Given the description of an element on the screen output the (x, y) to click on. 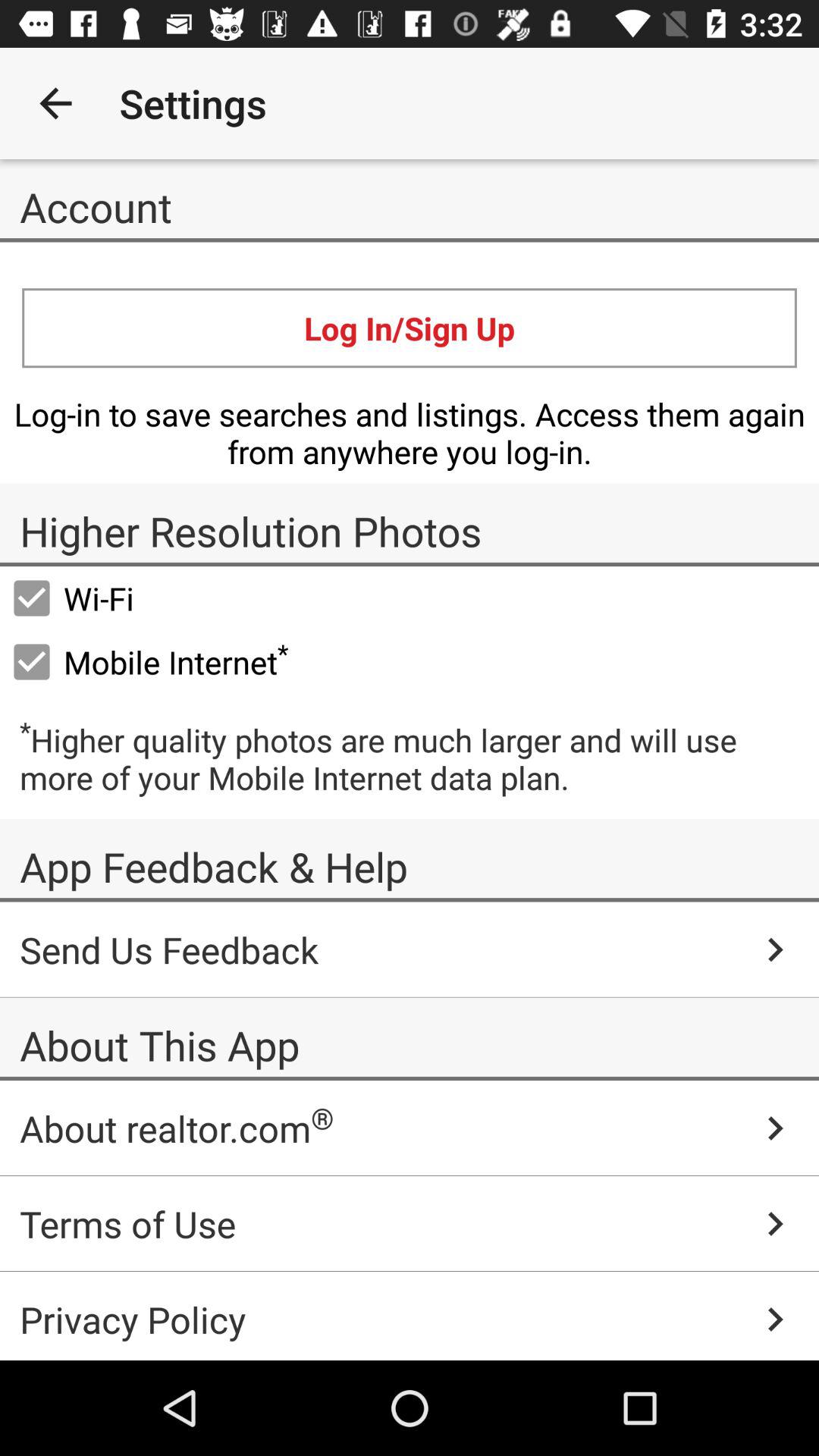
press the icon above account (55, 103)
